Given the description of an element on the screen output the (x, y) to click on. 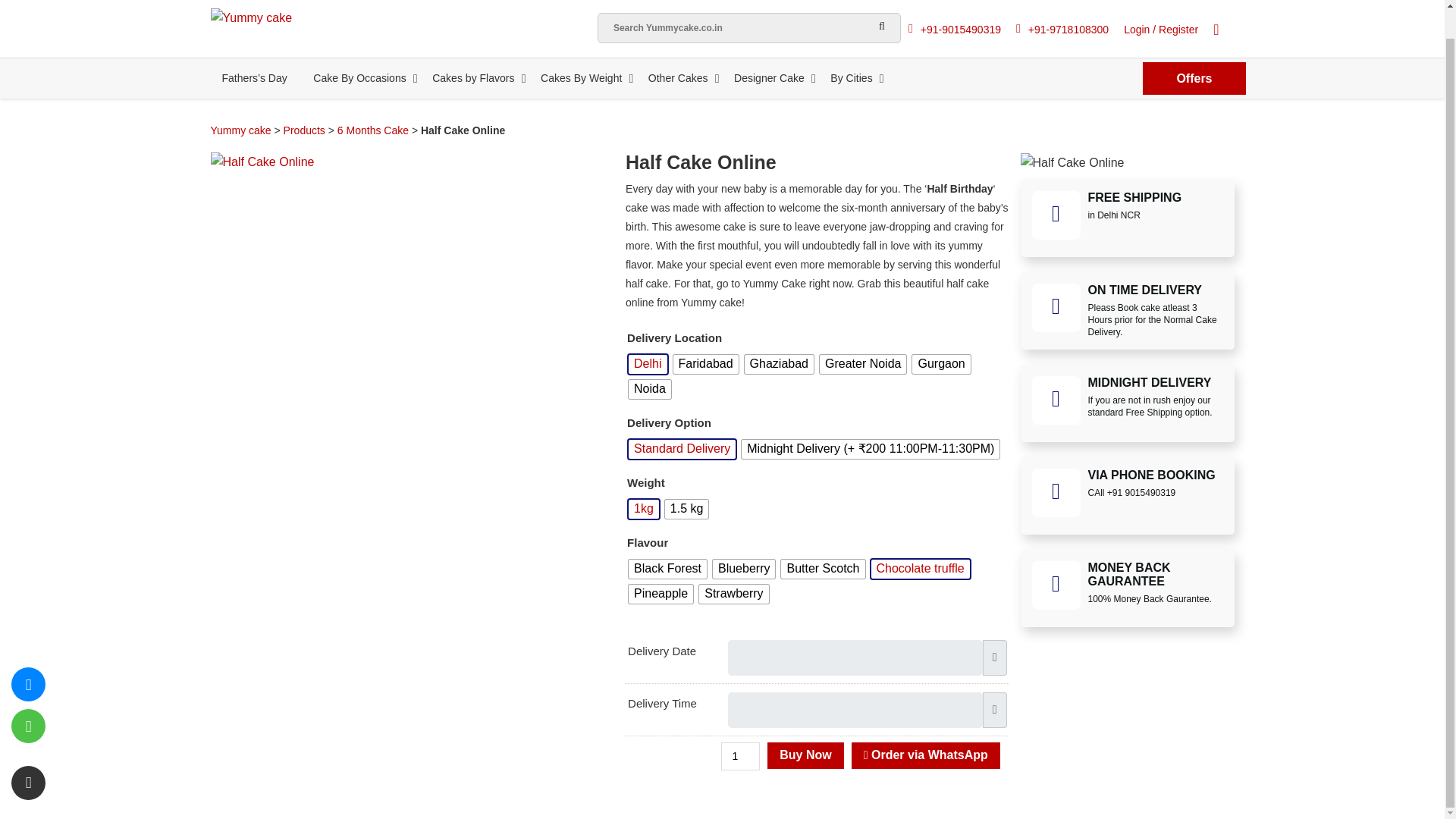
1 (740, 755)
Noida (649, 388)
Gurgaon (940, 363)
Greater Noida (863, 363)
Cakes by Flavors (472, 78)
Cakes By Weight (581, 78)
Cake By Occasions (358, 78)
Go to the 6 Months Cake Category archives. (373, 130)
1kg (643, 507)
1.5 kg (687, 507)
Blueberry (743, 568)
Go to Products. (303, 130)
Black Forest (667, 568)
Go to Yummy cake. (240, 130)
